Given the description of an element on the screen output the (x, y) to click on. 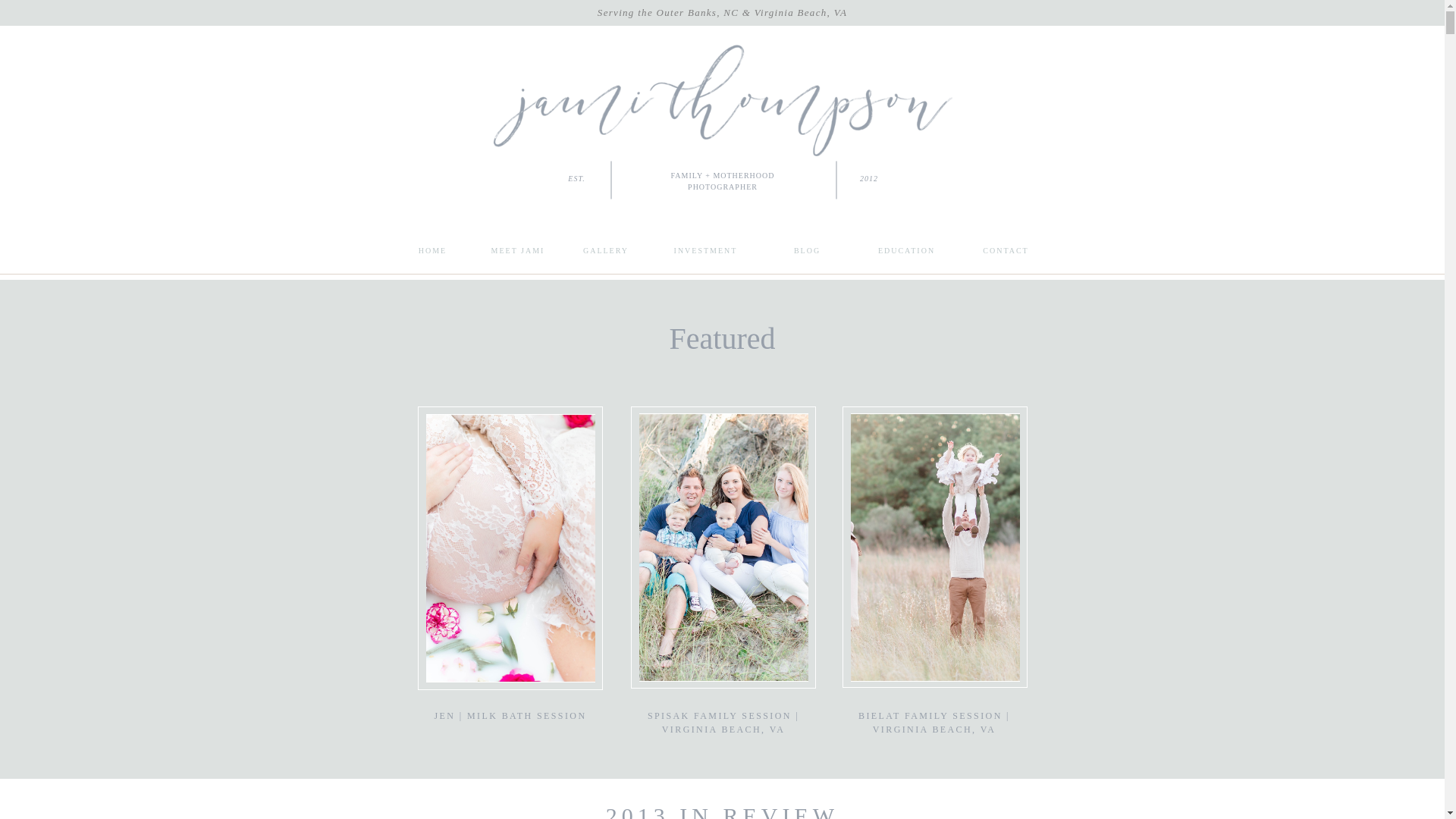
CONTACT (1005, 251)
MEET JAMI (518, 251)
BLOG (807, 251)
HOME (432, 251)
INVESTMENT (705, 251)
EDUCATION (906, 251)
GALLERY (606, 251)
